Given the description of an element on the screen output the (x, y) to click on. 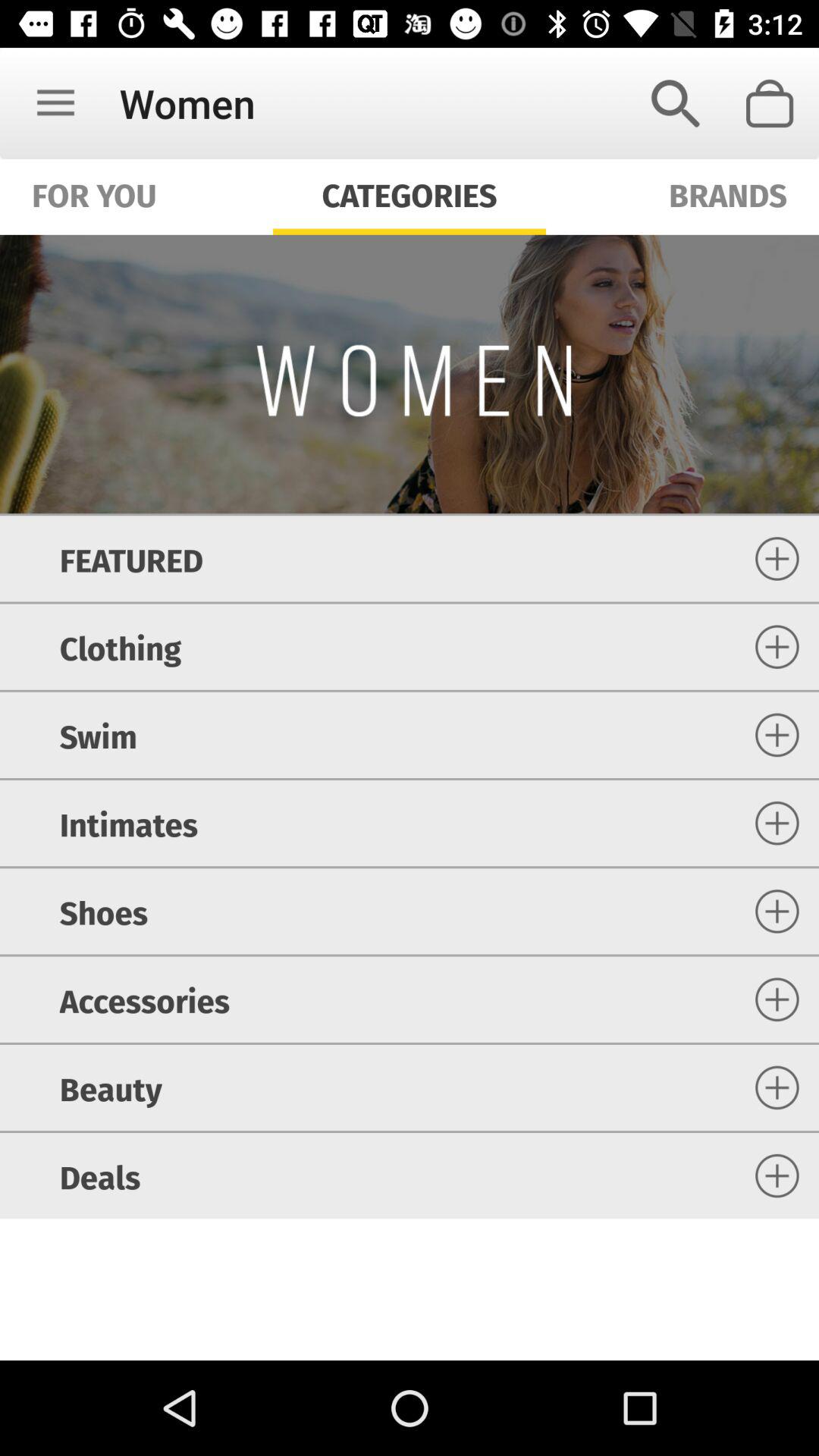
open the item to the left of the women app (55, 103)
